Given the description of an element on the screen output the (x, y) to click on. 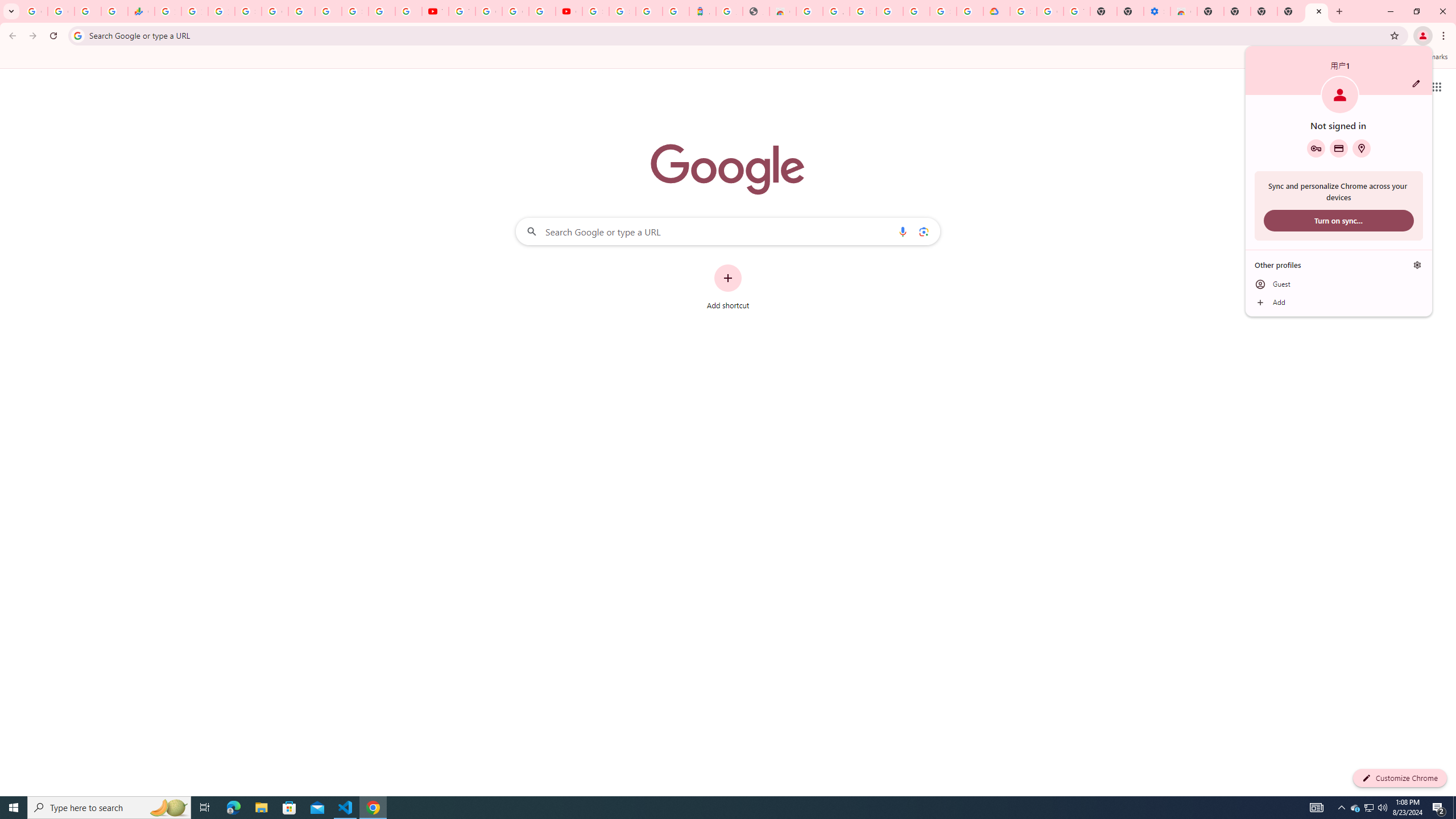
AutomationID: 4105 (1316, 807)
User Promoted Notification Area (1368, 807)
Settings - Accessibility (1156, 11)
Google Password Manager (1315, 148)
Payment methods (1338, 148)
Visual Studio Code - 1 running window (345, 807)
Atour Hotel - Google hotels (702, 11)
Sign in - Google Accounts (1023, 11)
Running applications (717, 807)
Microsoft Edge (233, 807)
Type here to search (108, 807)
